Given the description of an element on the screen output the (x, y) to click on. 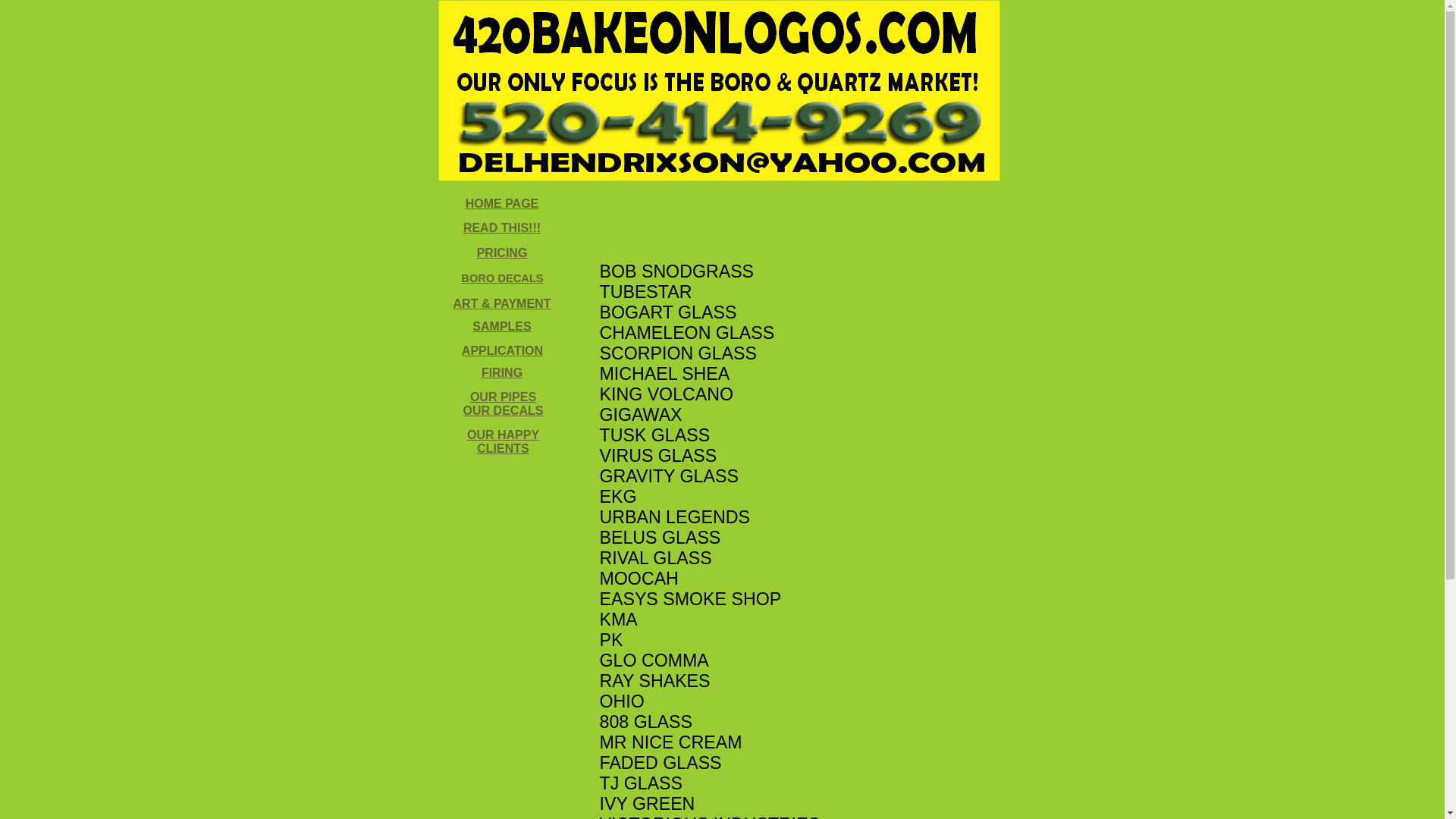
SAMPLES Element type: text (501, 326)
BORO DECALS Element type: text (501, 278)
READ THIS!!! Element type: text (501, 227)
PRICING Element type: text (501, 252)
APPLICATION Element type: text (501, 350)
ART & PAYMENT Element type: text (502, 303)
OUR PIPES
OUR DECALS Element type: text (503, 403)
HOME PAGE Element type: text (502, 203)
OUR HAPPY
CLIENTS Element type: text (503, 441)
FIRING Element type: text (501, 372)
